Given the description of an element on the screen output the (x, y) to click on. 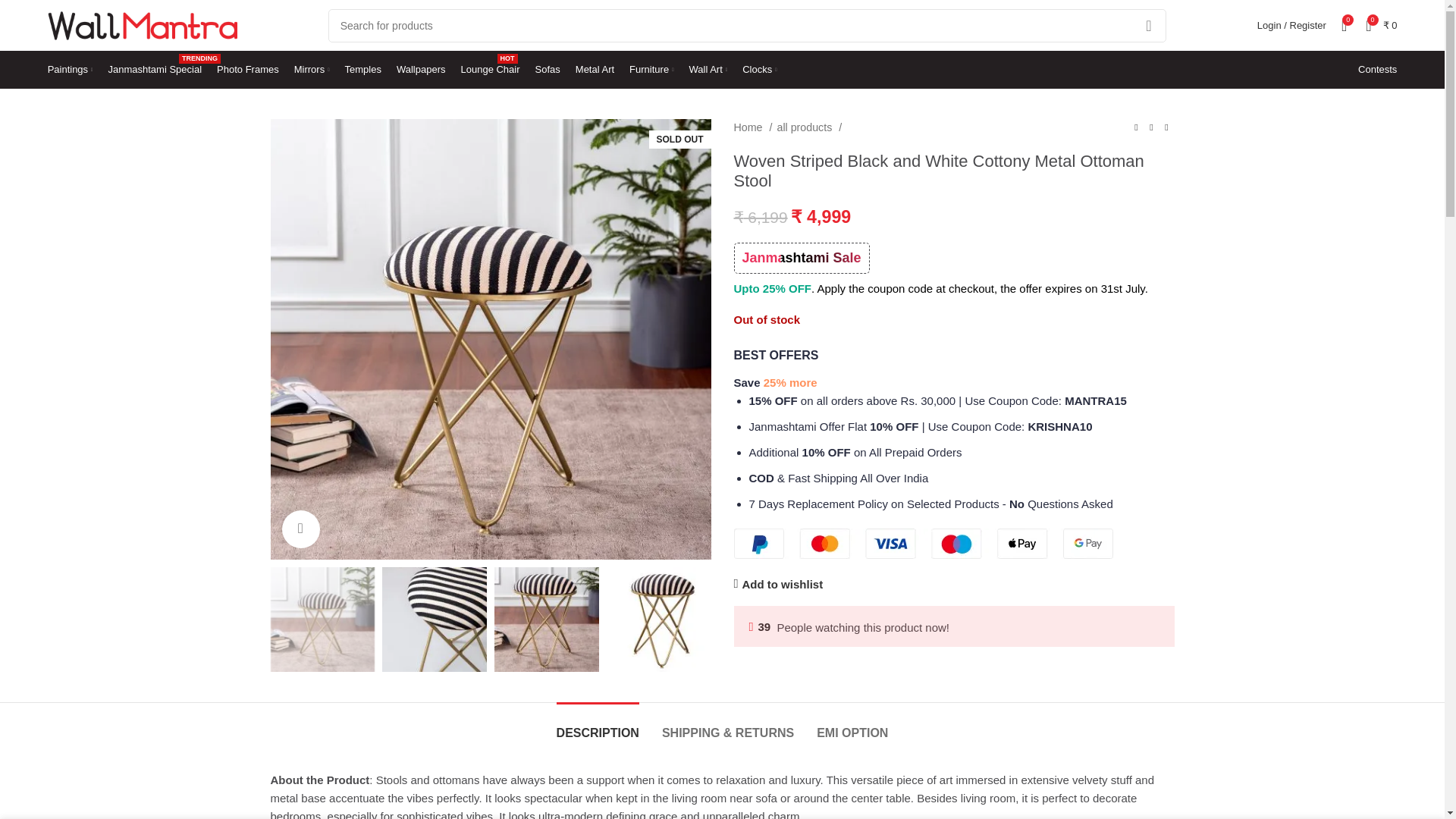
Search for products (747, 25)
Paintings (70, 69)
Photo Frames (247, 69)
My account (1291, 25)
Mirrors (312, 69)
Shopping cart (1381, 25)
SEARCH (154, 69)
